Given the description of an element on the screen output the (x, y) to click on. 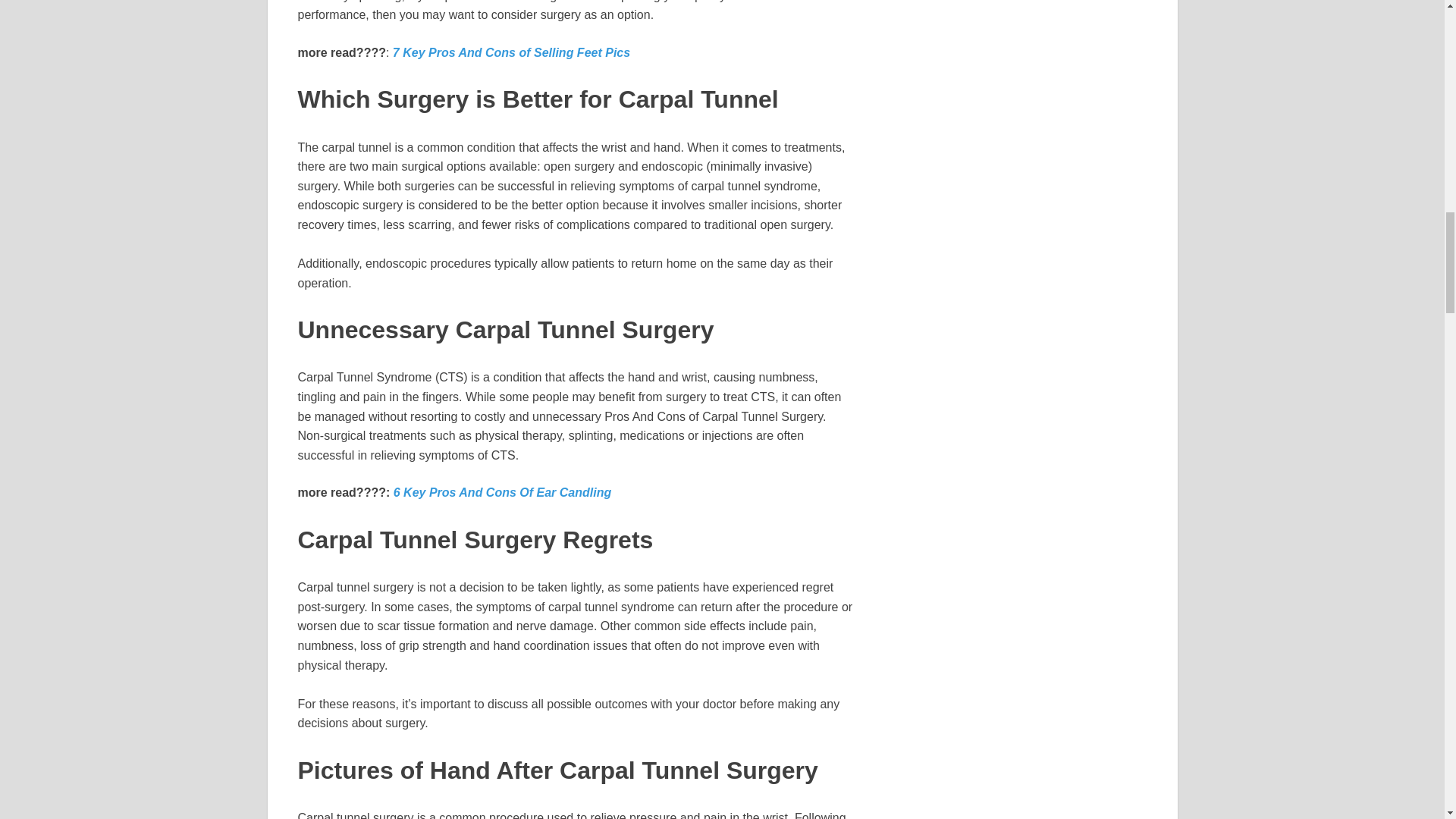
6 Key Pros And Cons Of Ear Candling (502, 492)
7 Key Pros And Cons of Selling Feet Pics (511, 51)
